Given the description of an element on the screen output the (x, y) to click on. 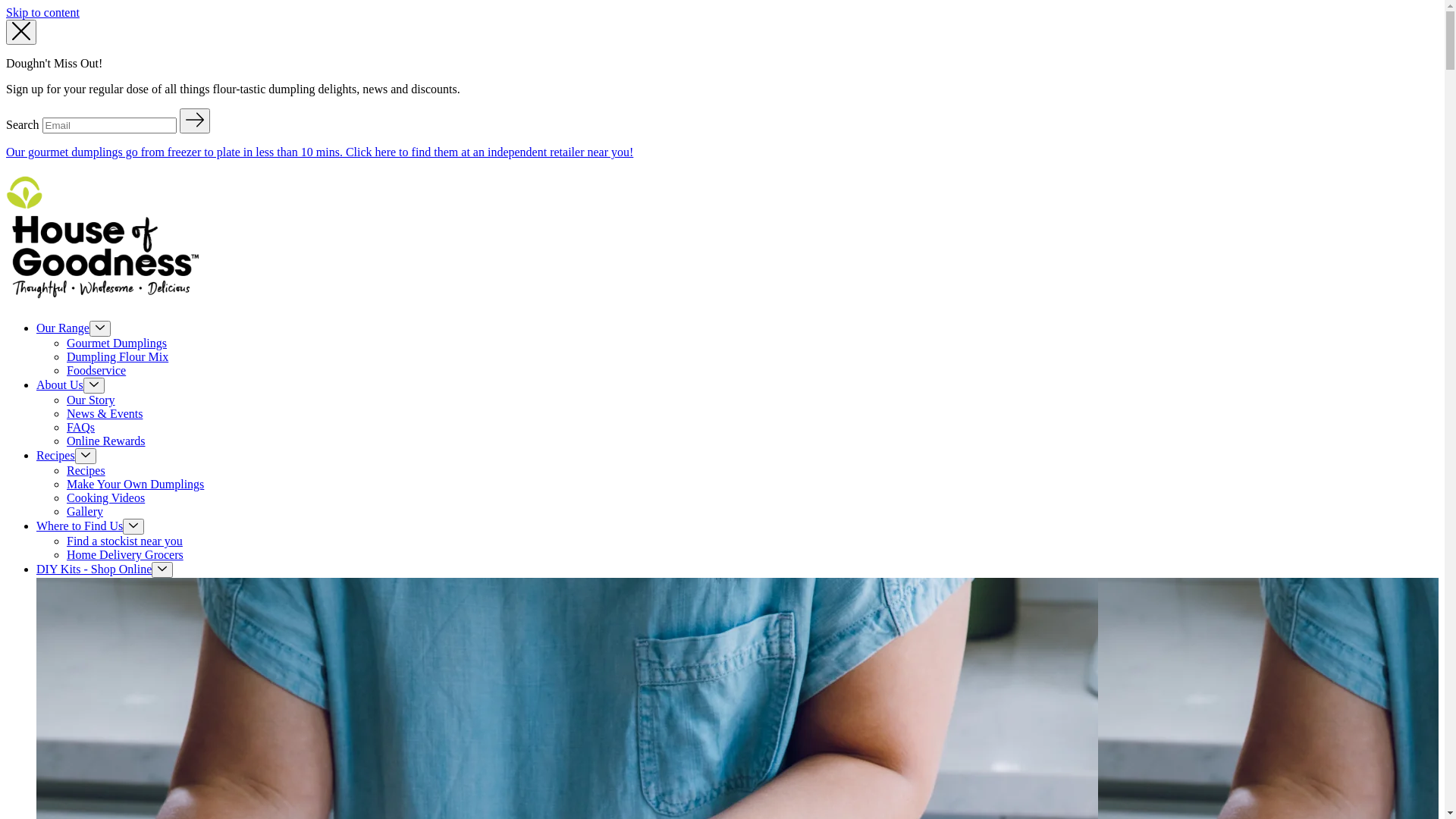
FAQs Element type: text (80, 426)
Foodservice Element type: text (95, 370)
Our Story Element type: text (90, 399)
Gourmet Dumplings Element type: text (116, 342)
DIY Kits - Shop Online Element type: text (93, 568)
Recipes Element type: text (85, 470)
Online Rewards Element type: text (105, 440)
News & Events Element type: text (104, 413)
Dumpling Flour Mix Element type: text (117, 356)
Our Range Element type: text (62, 327)
Gallery Element type: text (84, 511)
Cooking Videos Element type: text (105, 497)
Where to Find Us Element type: text (79, 525)
Home Delivery Grocers Element type: text (124, 554)
About Us Element type: text (59, 384)
Skip to content Element type: text (42, 12)
Find a stockist near you Element type: text (124, 540)
Recipes Element type: text (55, 454)
Make Your Own Dumplings Element type: text (134, 483)
